Given the description of an element on the screen output the (x, y) to click on. 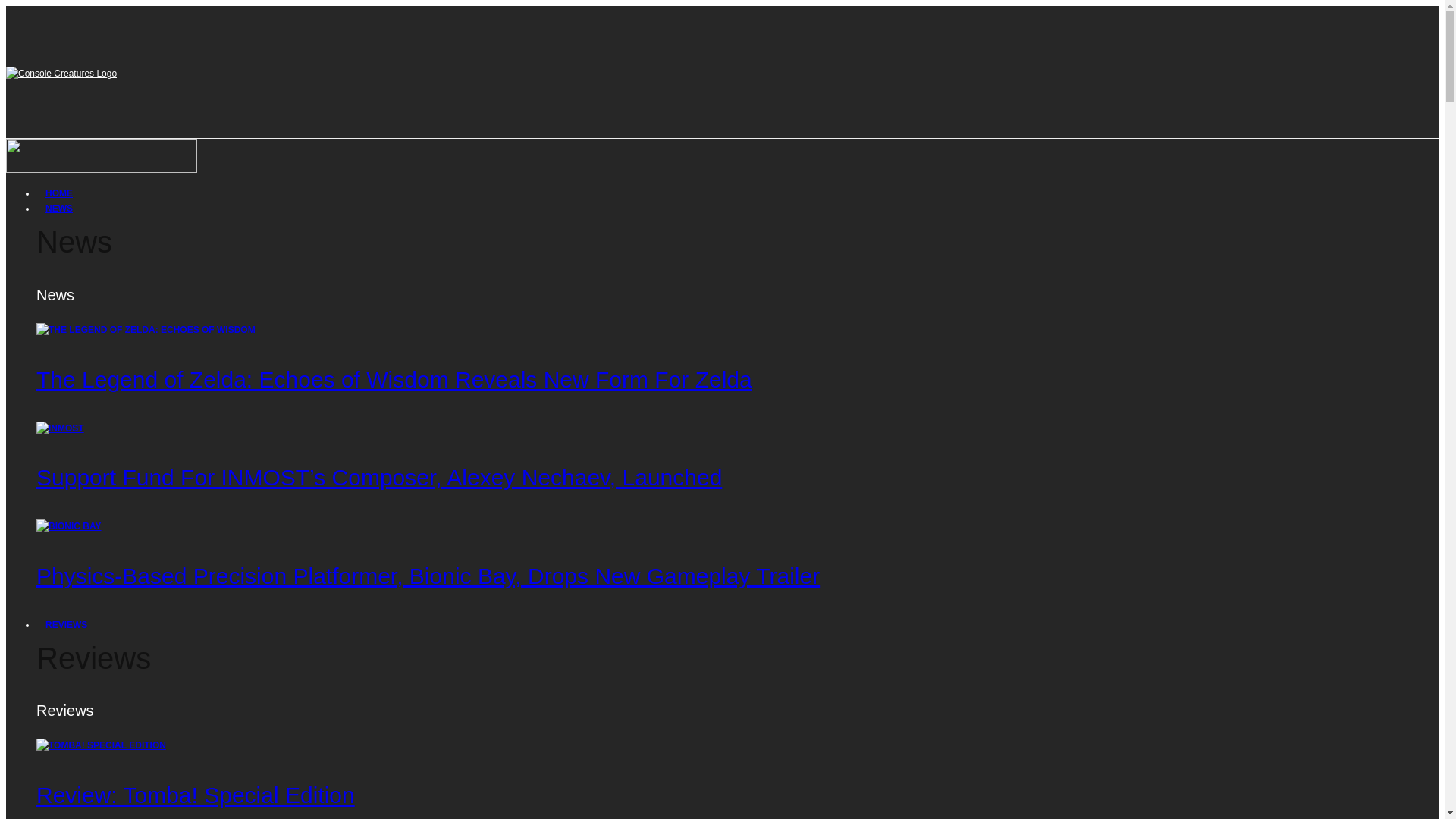
NEWS (58, 208)
REVIEWS (66, 624)
HOME (58, 192)
Review: Tomba! Special Edition (195, 794)
